Given the description of an element on the screen output the (x, y) to click on. 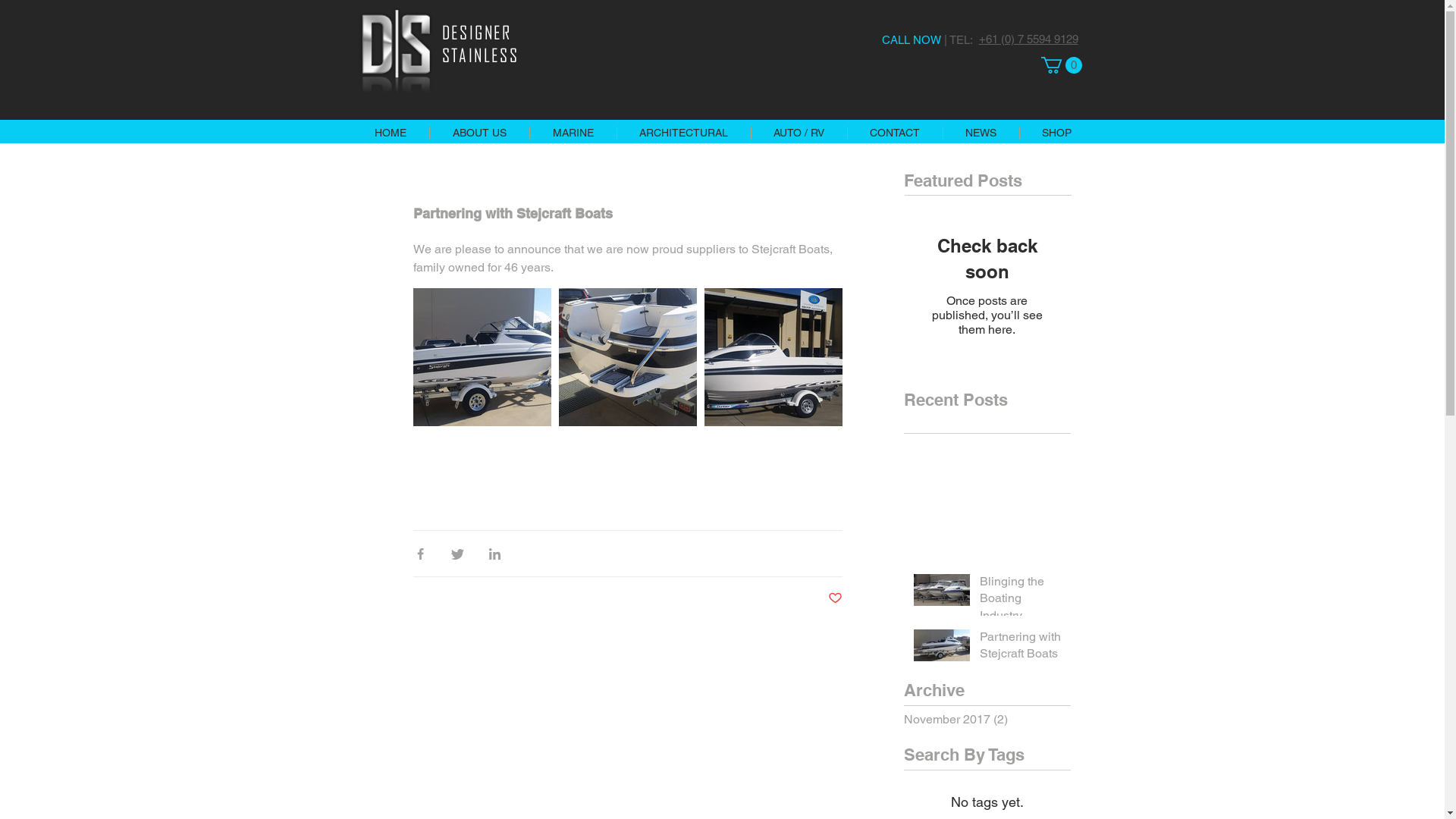
AUTO / RV Element type: text (798, 132)
Post not marked as liked Element type: text (835, 598)
CONTACT Element type: text (893, 132)
0 Element type: text (1060, 64)
STAINLESS Element type: text (479, 54)
DESIGNER Element type: text (476, 32)
HOME Element type: text (390, 132)
Partnering with Stejcraft Boats Element type: text (1020, 648)
Blinging the Boating Industry Element type: text (1020, 601)
+61 (0) 7 5594 9129 Element type: text (1027, 38)
SHOP Element type: text (1056, 132)
ARCHITECTURAL Element type: text (682, 132)
NEWS Element type: text (979, 132)
MARINE Element type: text (572, 132)
ABOUT US Element type: text (479, 132)
November 2017 (2) Element type: text (983, 719)
